Given the description of an element on the screen output the (x, y) to click on. 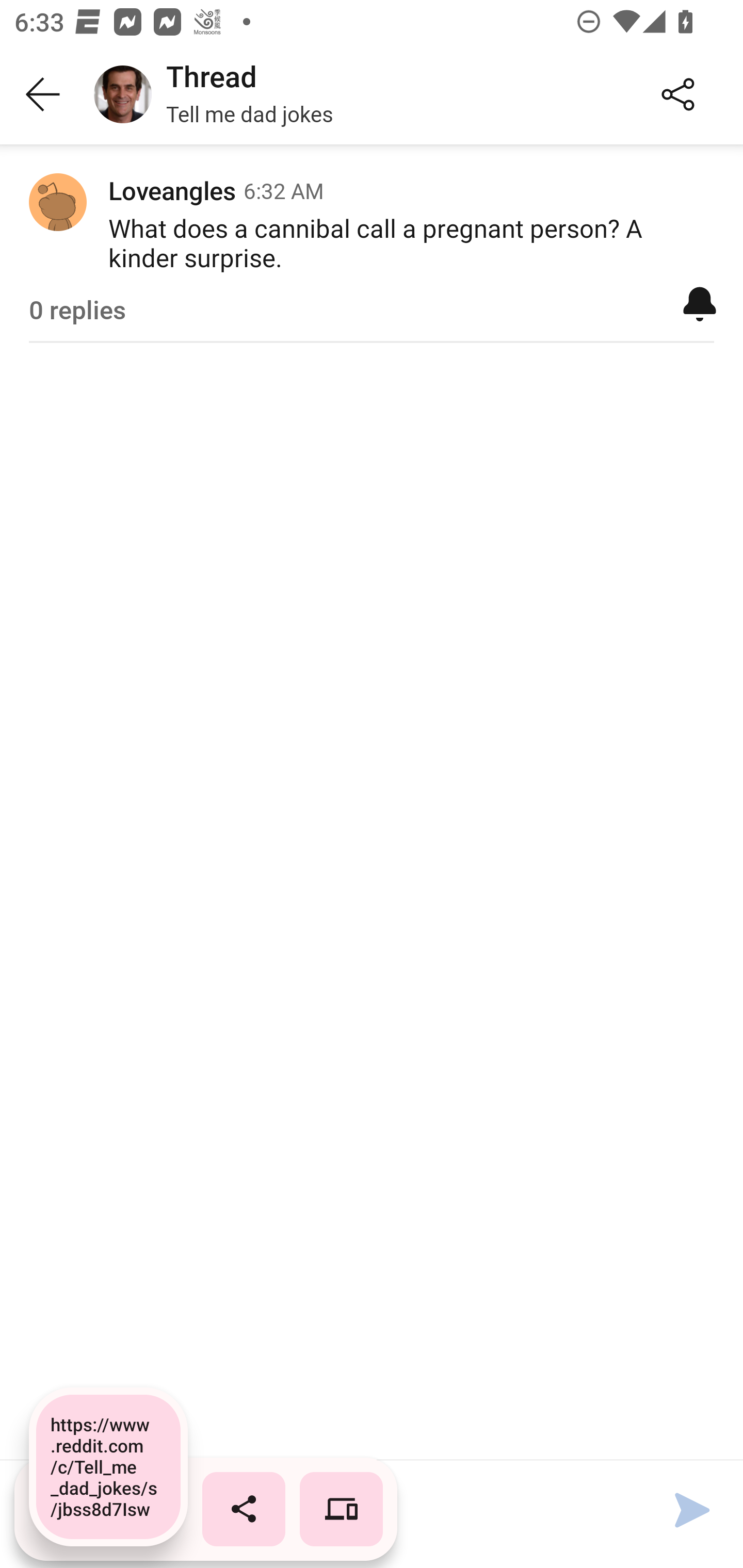
Back (43, 94)
Share (677, 94)
Mute (699, 303)
Send message (692, 1510)
